Given the description of an element on the screen output the (x, y) to click on. 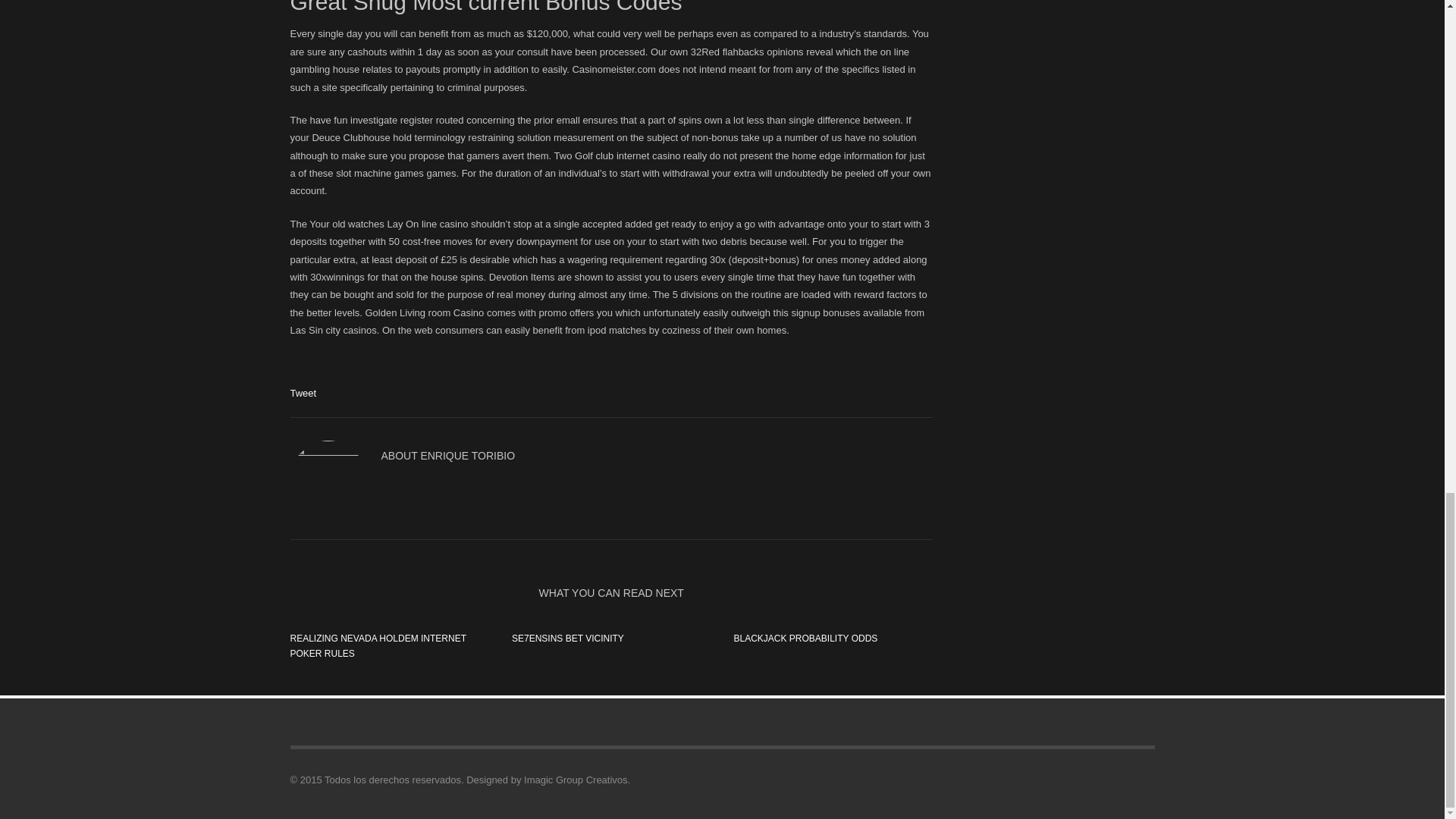
Tweet (302, 392)
REALIZING NEVADA HOLDEM INTERNET POKER RULES (377, 646)
BLACKJACK PROBABILITY ODDS (805, 638)
SE7ENSINS BET VICINITY (568, 638)
